Given the description of an element on the screen output the (x, y) to click on. 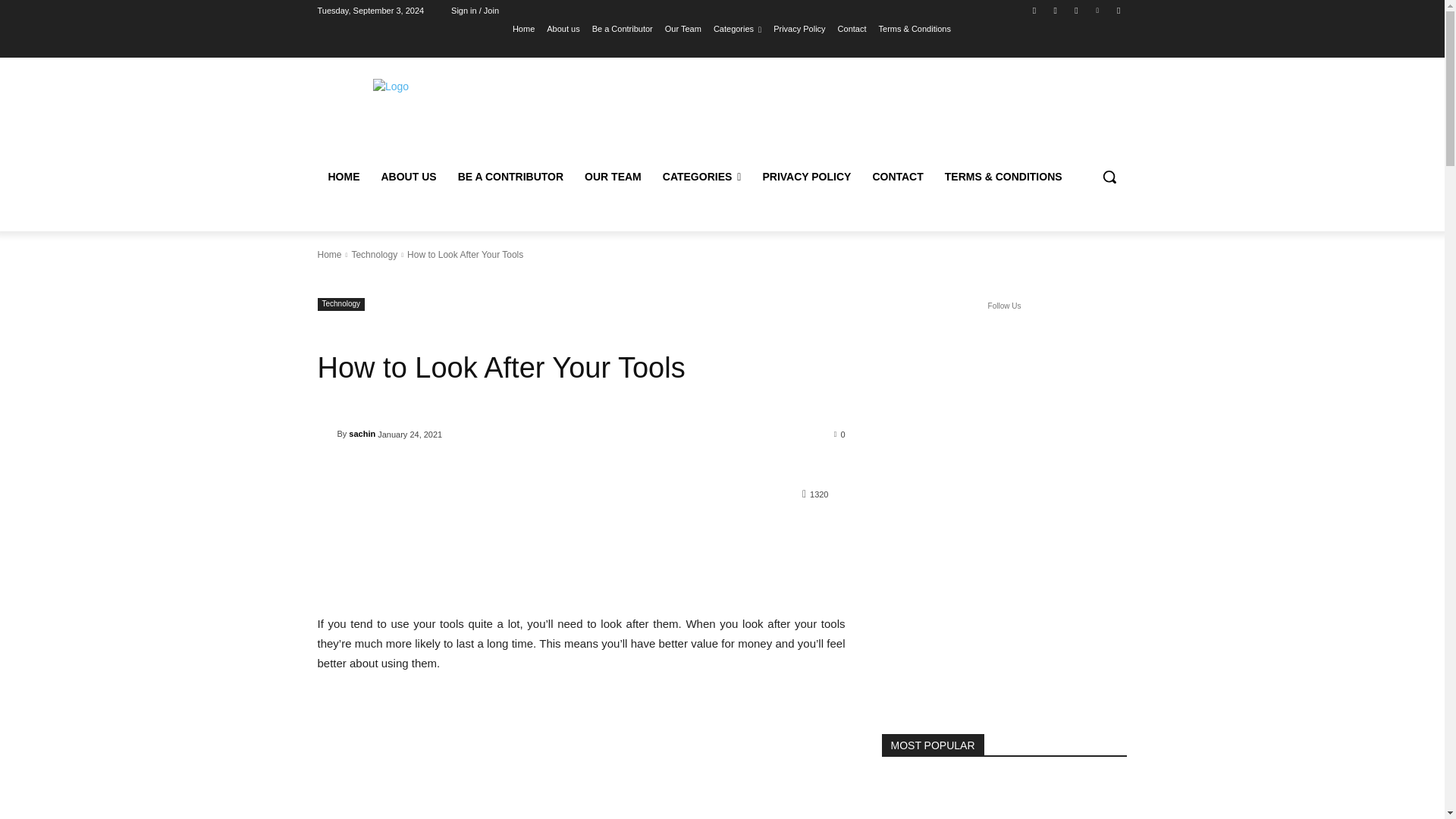
Privacy Policy (799, 28)
sachin (326, 433)
Be a Contributor (622, 28)
Home (523, 28)
About us (563, 28)
Facebook (1034, 9)
Vimeo (1097, 9)
Categories (737, 28)
Twitter (1075, 9)
Contact (852, 28)
